Given the description of an element on the screen output the (x, y) to click on. 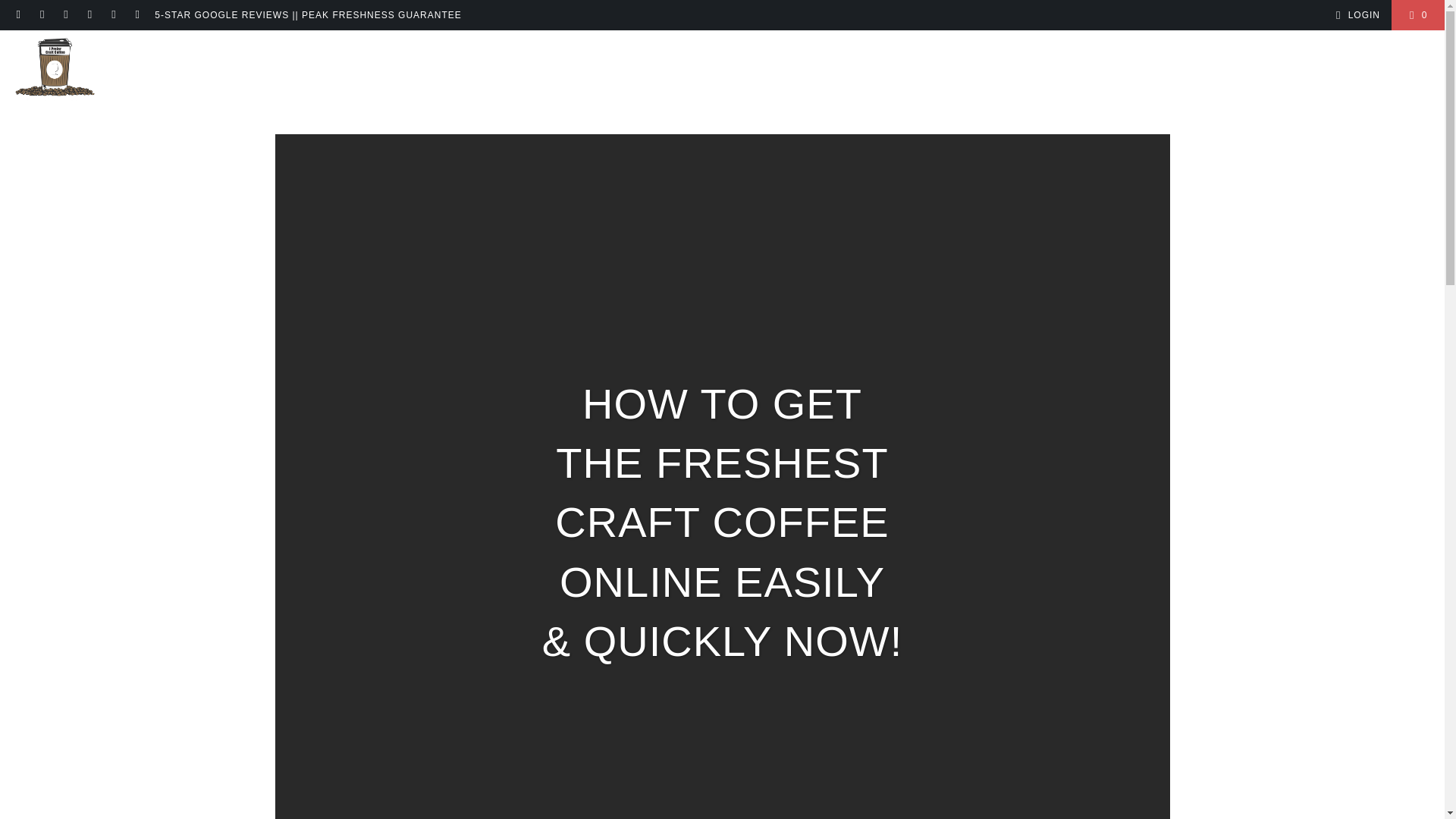
LOGIN (1355, 14)
I Prefer Craft Coffee (54, 70)
I Prefer Craft Coffee on Facebook (41, 14)
COFFEE SUBSCRIPTION (757, 70)
PEAK FRESHNESS GUARANTEE (962, 70)
Email I Prefer Craft Coffee (17, 14)
HOME (264, 70)
I Prefer Craft Coffee on Pinterest (89, 14)
My Account  (1355, 14)
I Prefer Craft Coffee on Twitter (136, 14)
BETTER MORNING COFFEE CHALLENGE (561, 70)
I Prefer Craft Coffee on Instagram (65, 14)
I Prefer Craft Coffee on TikTok (112, 14)
